Given the description of an element on the screen output the (x, y) to click on. 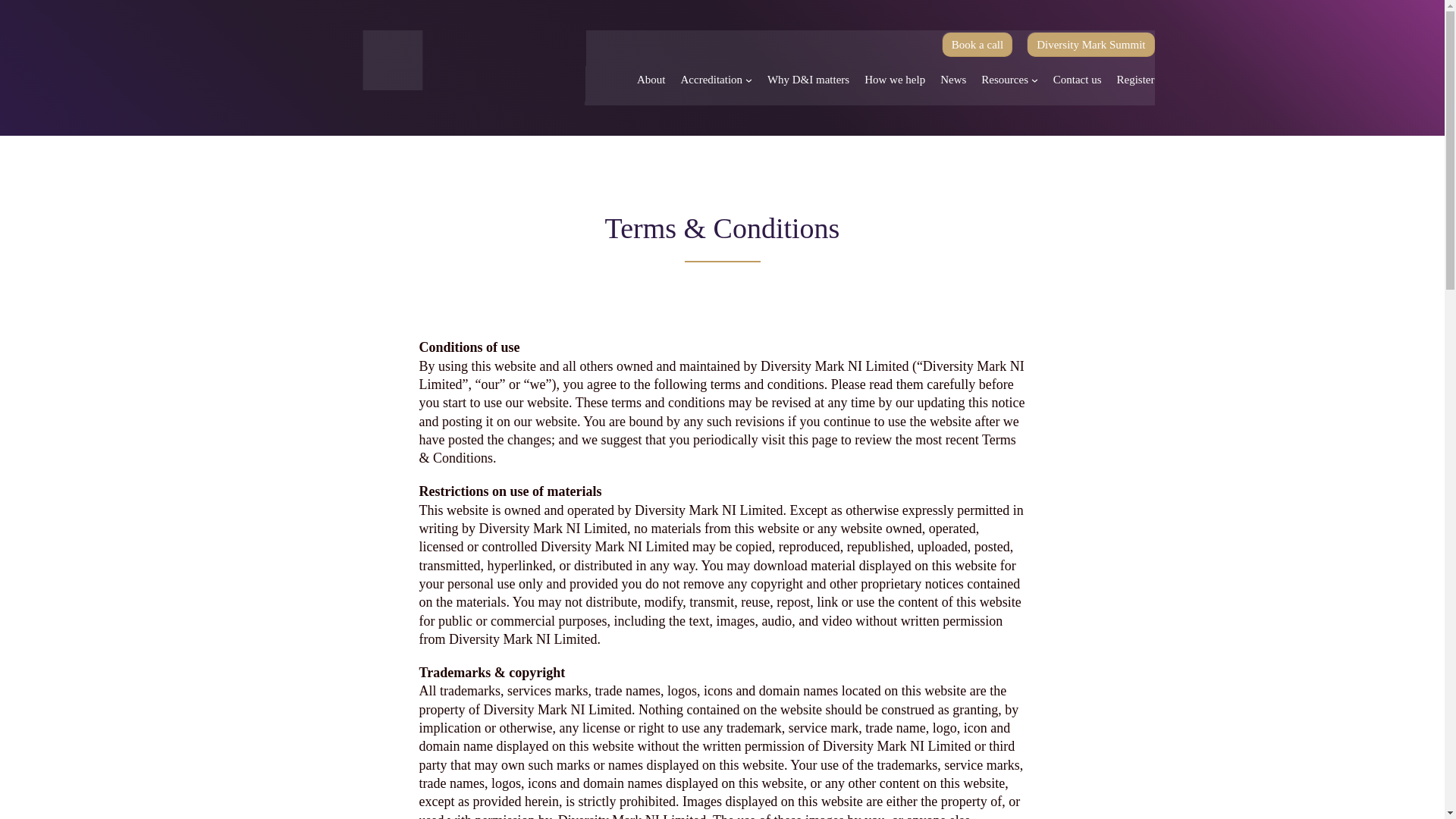
Accreditation (710, 79)
Register (1135, 79)
About (651, 79)
How we help (894, 79)
Diversity Mark Summit (1090, 44)
Resources (1004, 79)
Contact us (1077, 79)
Book a call (976, 44)
News (953, 79)
